Given the description of an element on the screen output the (x, y) to click on. 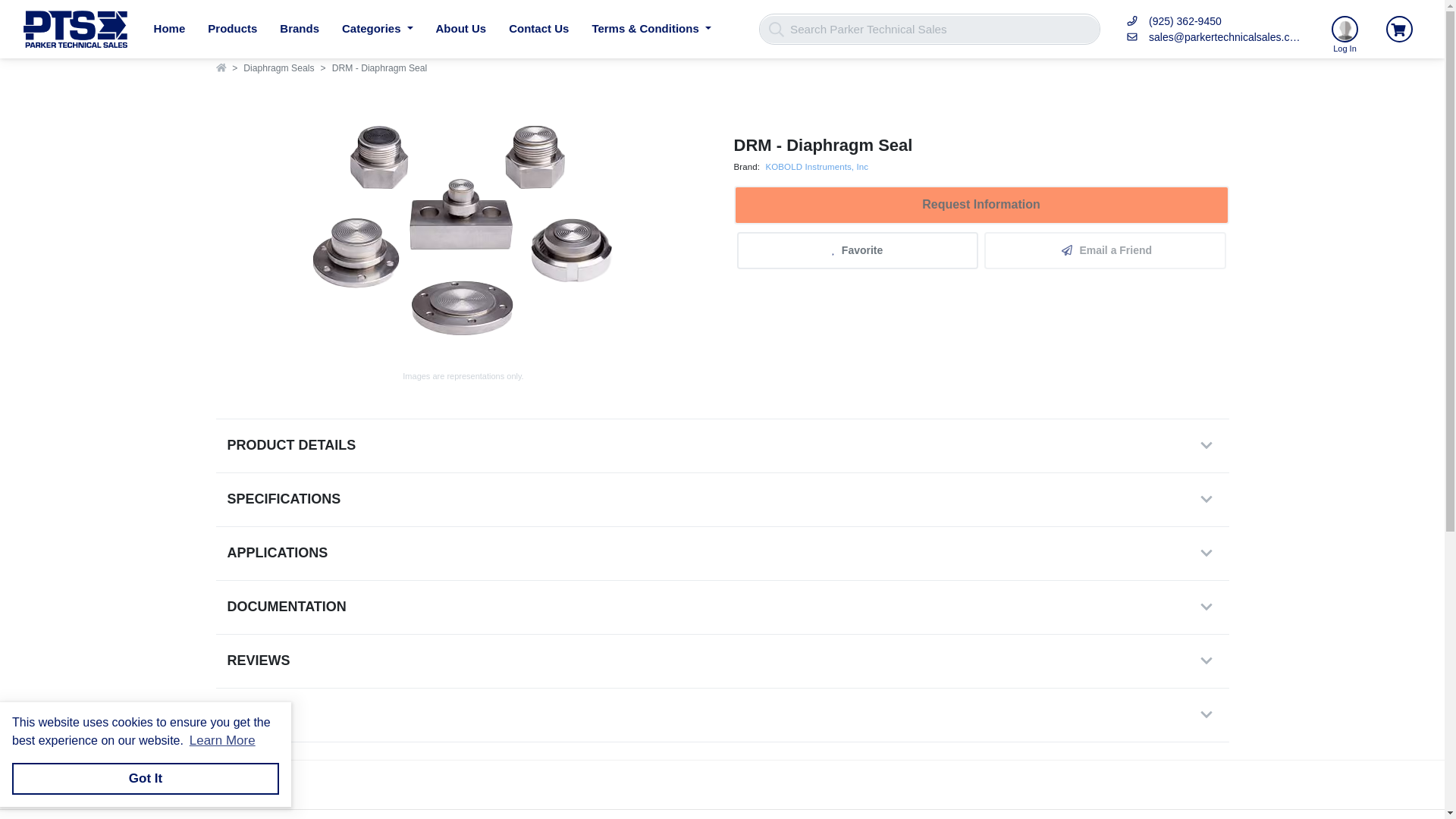
Search (775, 28)
Products (231, 29)
Got It (145, 778)
Learn More (221, 740)
Brands (298, 29)
Home (169, 29)
Categories (377, 29)
Email a Friend (1104, 250)
